Given the description of an element on the screen output the (x, y) to click on. 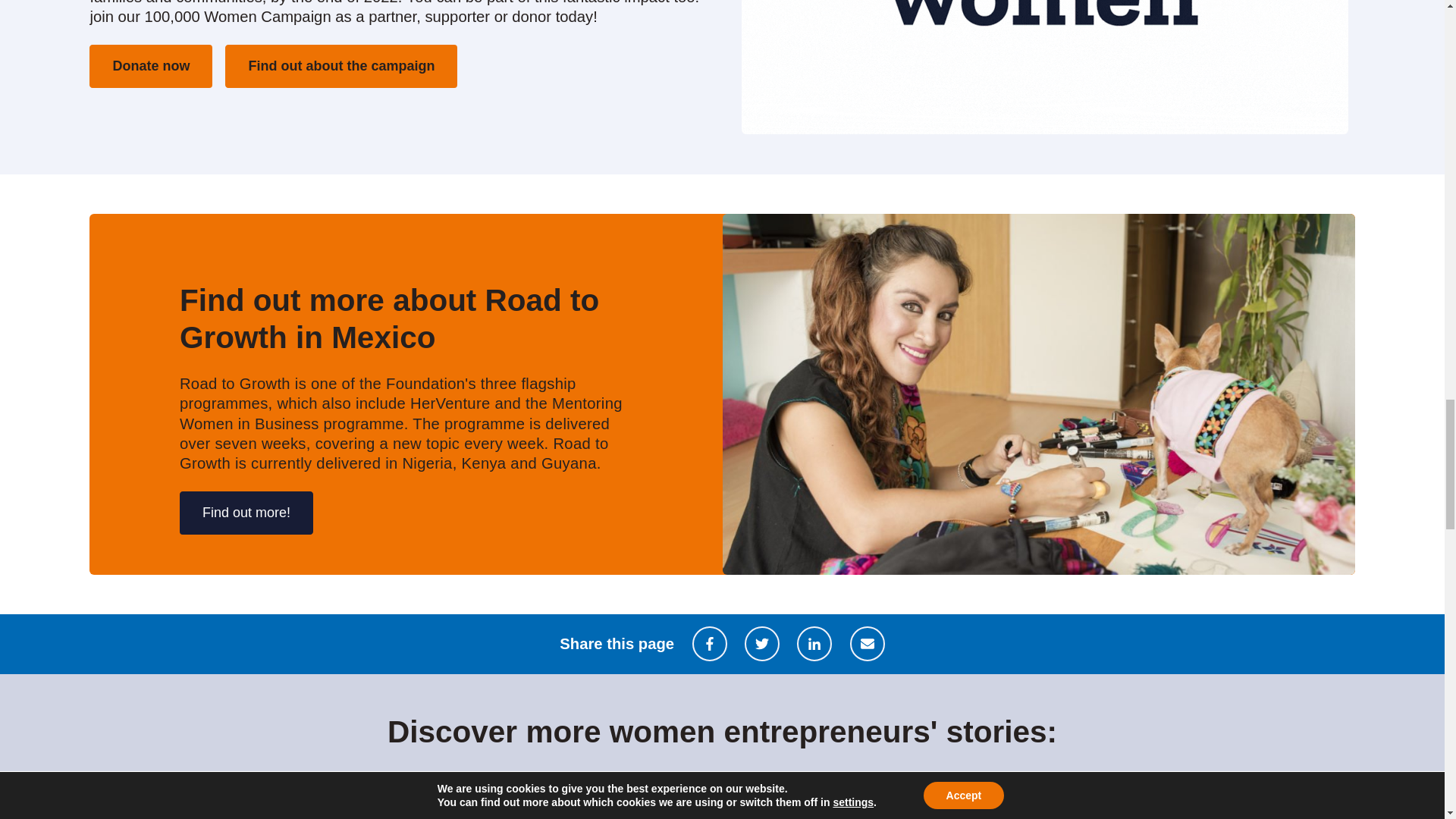
Tweet this page (761, 643)
Share via Email (867, 643)
Share on Facebook (709, 643)
Share on LinkedIn (813, 643)
